Given the description of an element on the screen output the (x, y) to click on. 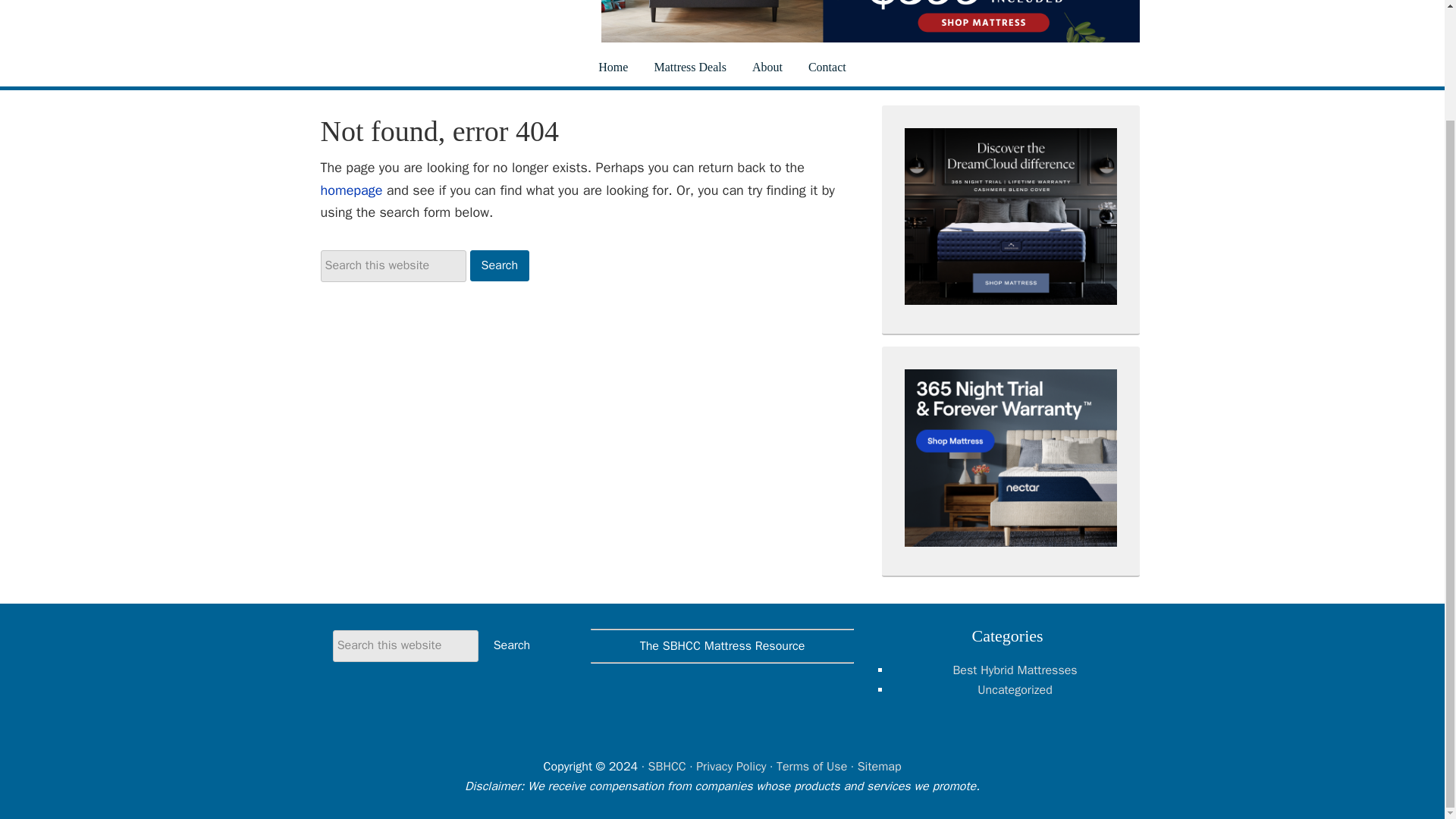
Contact (826, 67)
Terms of Use (811, 766)
Sitemap (879, 766)
Search (511, 644)
SBHCC (666, 766)
Best Hybrid Mattresses (1014, 670)
Uncategorized (1013, 689)
Mattress Deals (690, 67)
Search (499, 265)
Search (499, 265)
